Given the description of an element on the screen output the (x, y) to click on. 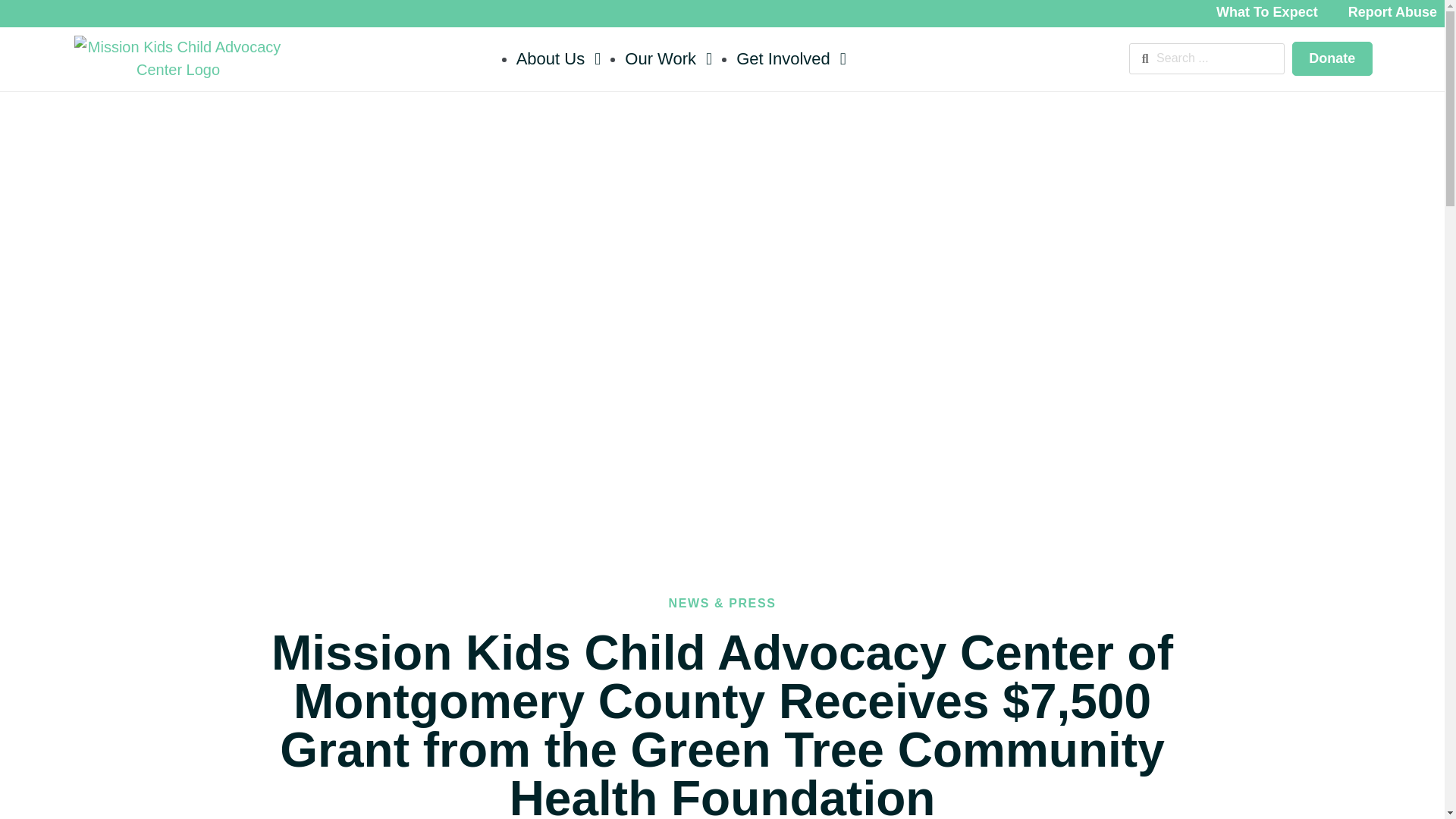
What To Expect (1266, 13)
